Given the description of an element on the screen output the (x, y) to click on. 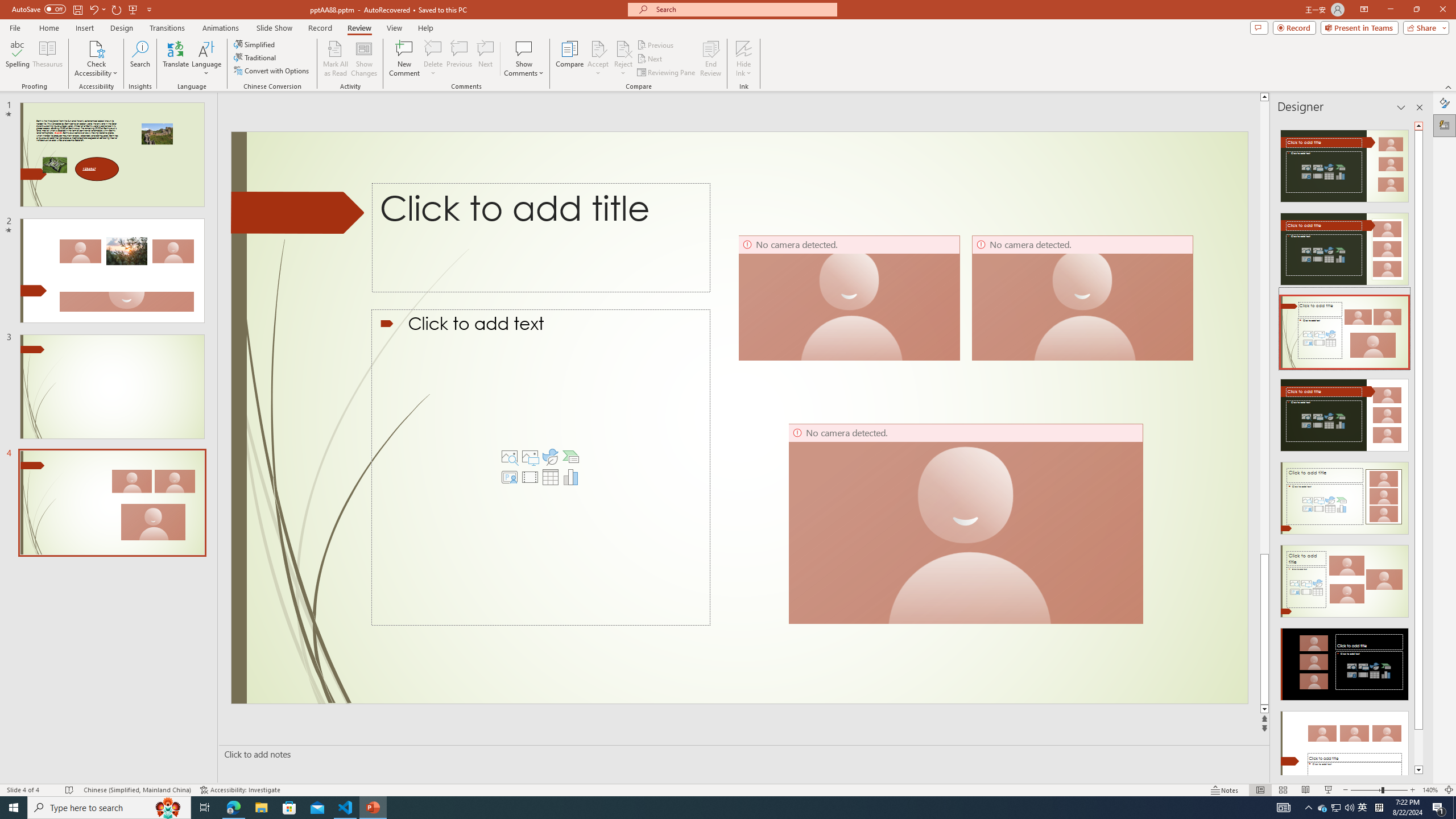
Camera 5, No camera detected. (849, 298)
Check Accessibility (95, 48)
Stock Images (509, 456)
Mark All as Read (335, 58)
Zoom 140% (1430, 790)
Page up (1264, 327)
Format Background (1444, 102)
Translate (175, 58)
Delete (432, 48)
Task Pane Options (1400, 107)
Class: NetUIScrollBar (1418, 447)
